Given the description of an element on the screen output the (x, y) to click on. 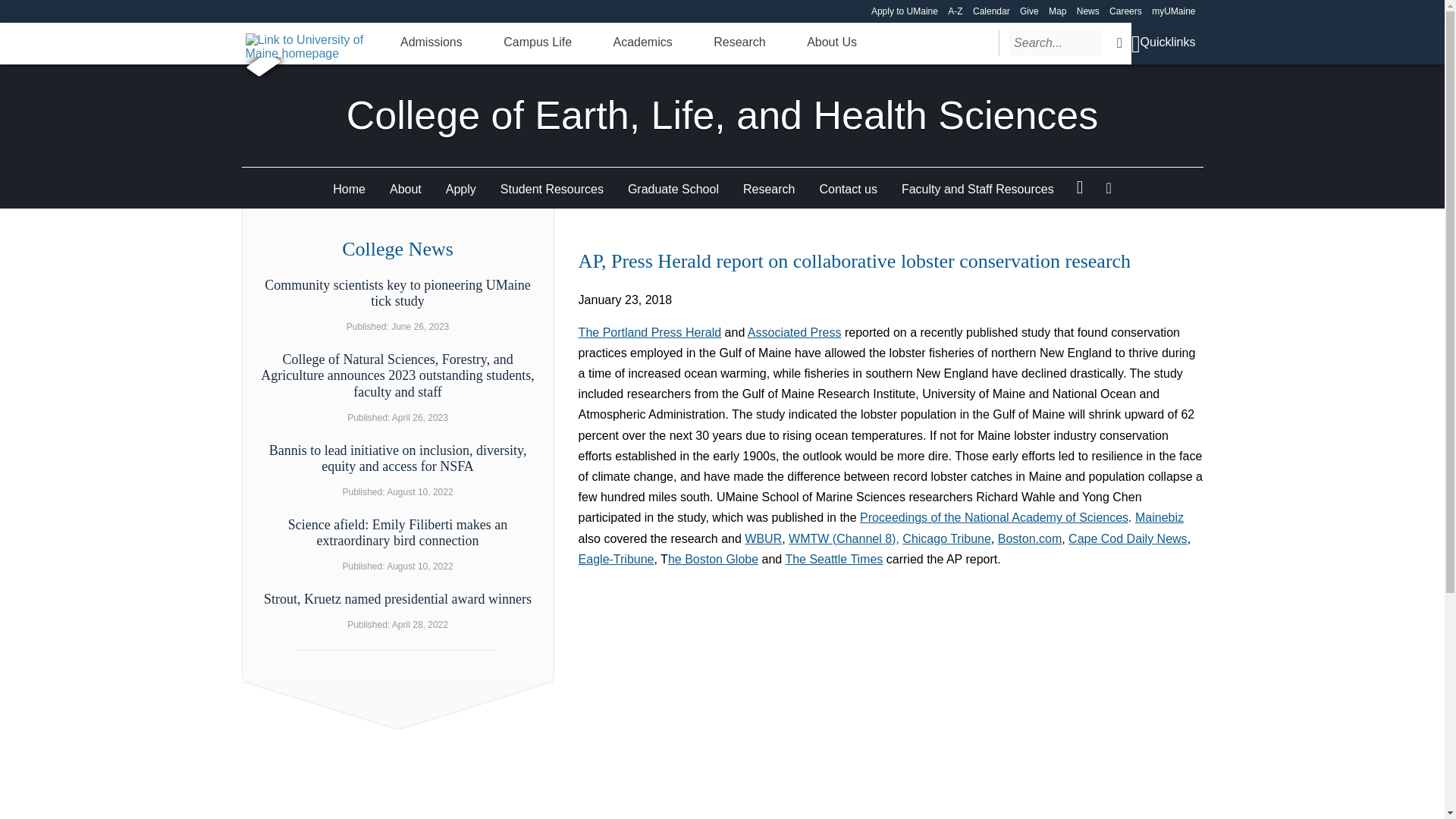
Search for: (1055, 43)
A-Z (954, 10)
News (1088, 10)
Admissions (431, 42)
Calendar (991, 10)
Apply to UMaine (903, 10)
Give (1029, 10)
Map (1056, 10)
Search (1119, 42)
Careers (1125, 10)
myUMaine (1173, 10)
